Given the description of an element on the screen output the (x, y) to click on. 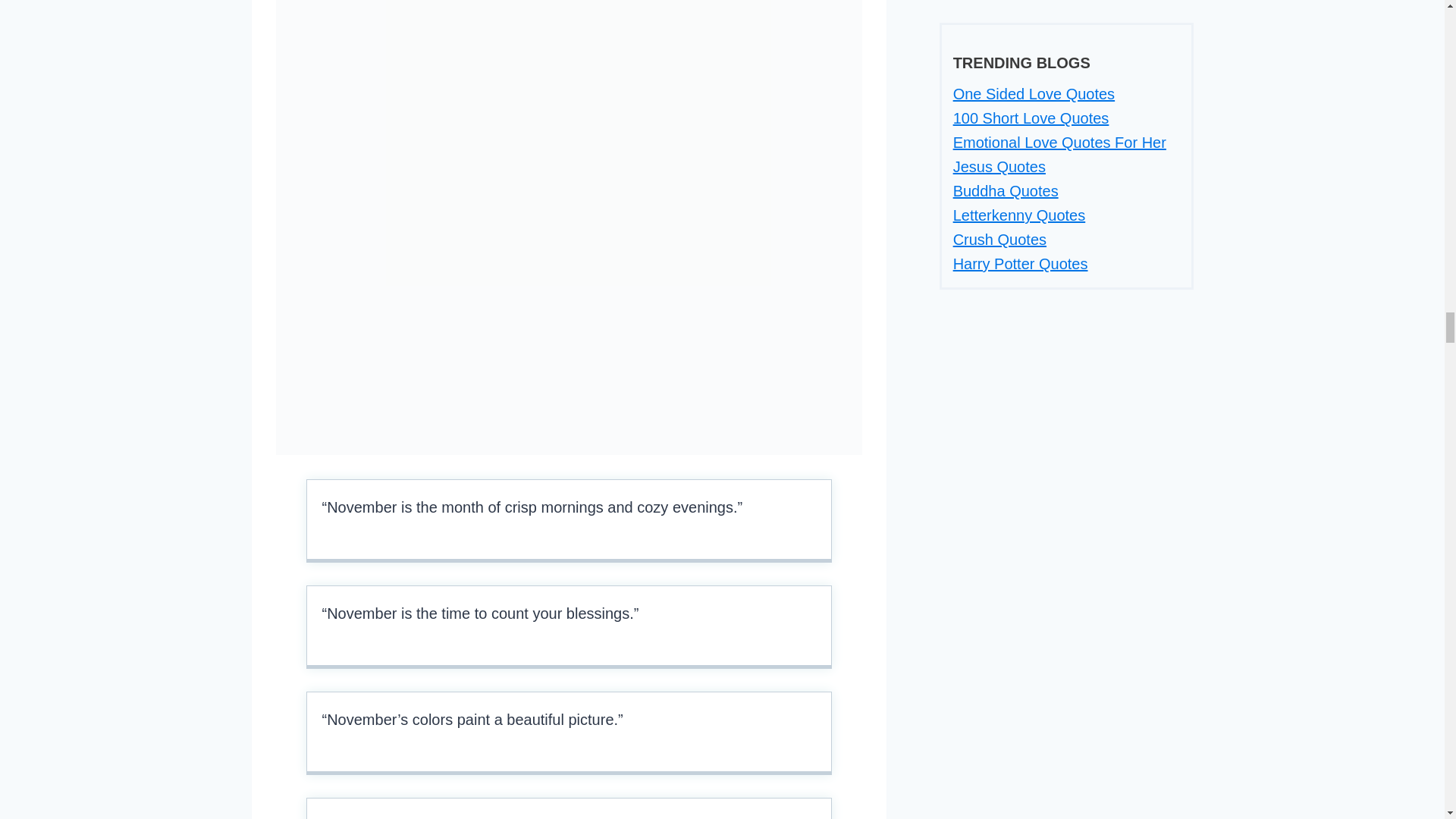
adventures (655, 818)
